Given the description of an element on the screen output the (x, y) to click on. 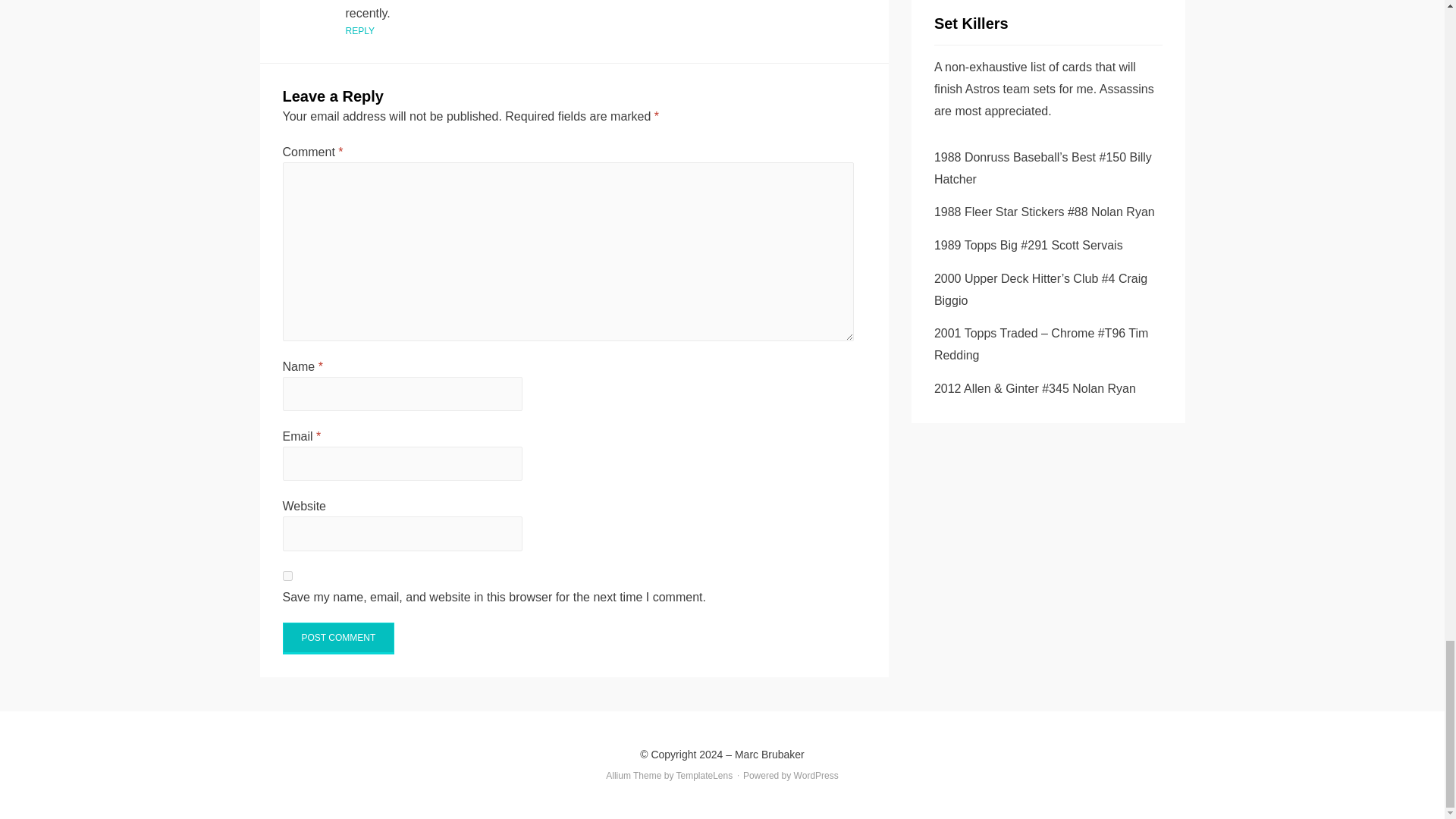
REPLY (360, 30)
Post Comment (338, 638)
yes (287, 575)
WordPress (815, 775)
TemplateLens (705, 775)
Post Comment (338, 638)
